Given the description of an element on the screen output the (x, y) to click on. 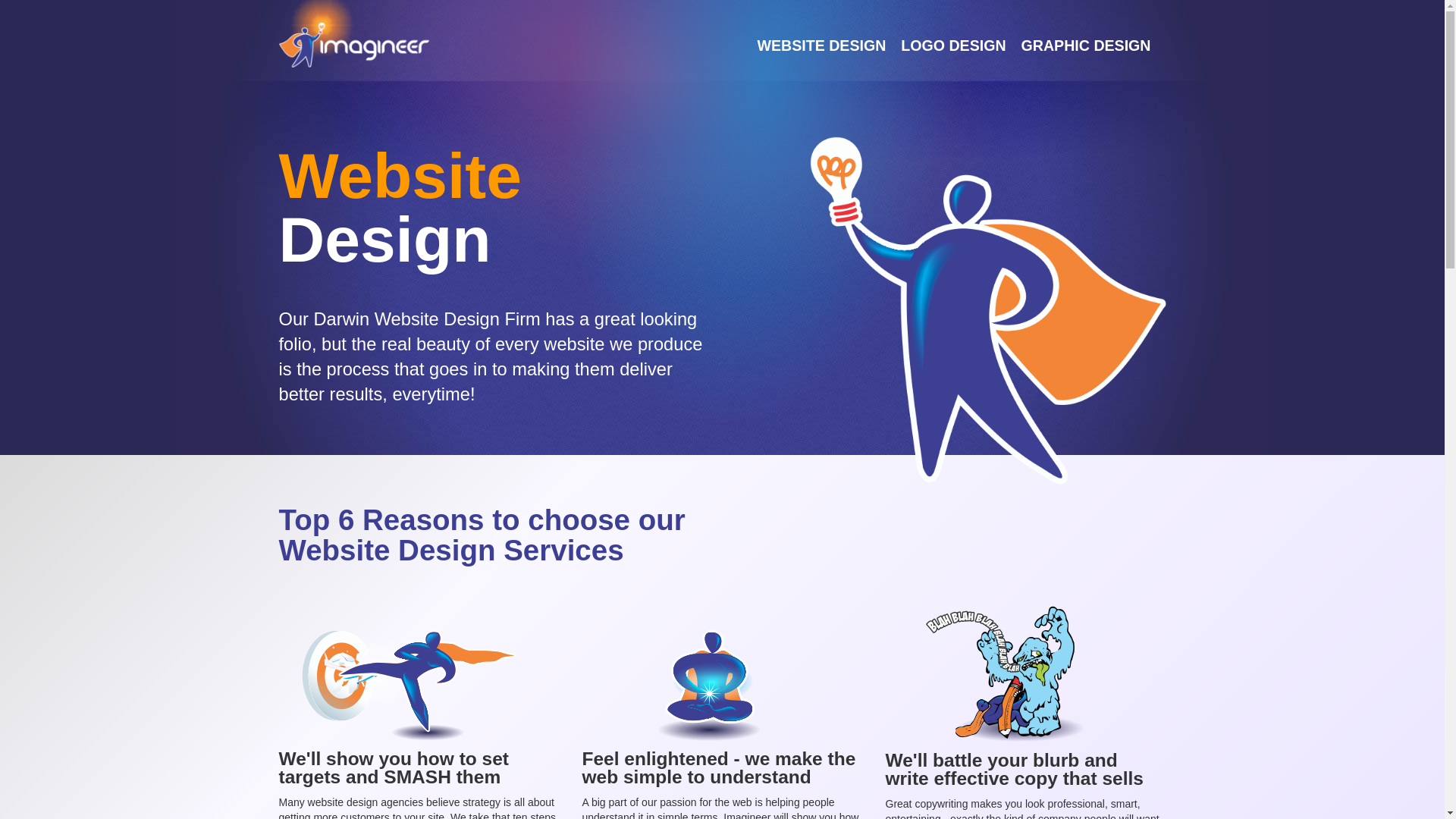
WEBSITE DESIGN Element type: text (820, 45)
GRAPHIC DESIGN Element type: text (1086, 45)
LOGO DESIGN Element type: text (952, 45)
